Given the description of an element on the screen output the (x, y) to click on. 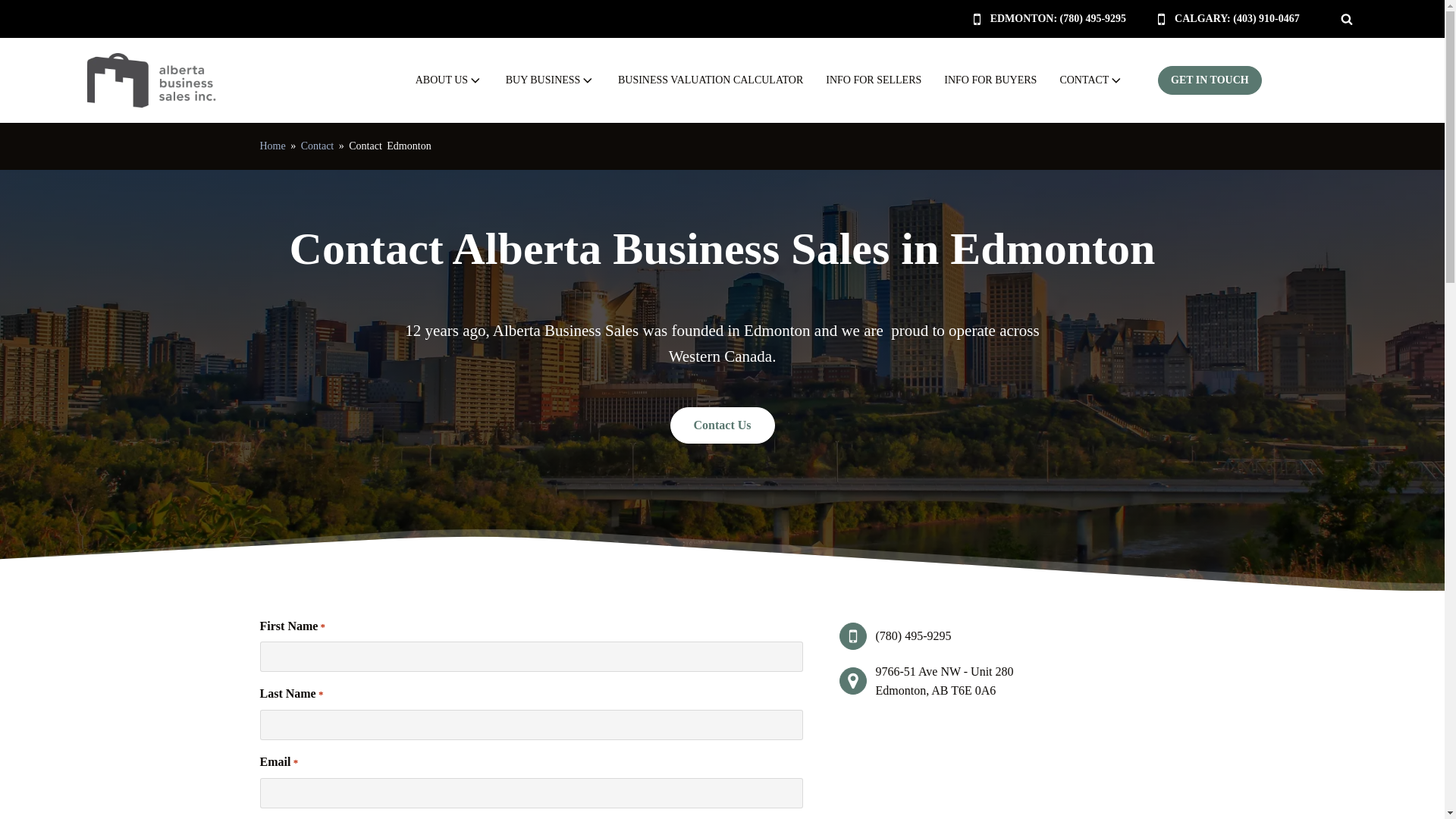
(780) 495-9295 Element type: text (912, 636)
ABOUT US Element type: text (449, 79)
INFO FOR SELLERS Element type: text (873, 79)
Contact Us Element type: text (722, 425)
BUSINESS VALUATION CALCULATOR Element type: text (710, 79)
GET IN TOUCH Element type: text (1209, 79)
INFO FOR BUYERS Element type: text (990, 79)
EDMONTON: (780) 495-9295 Element type: text (1047, 18)
Contact Element type: text (317, 145)
Home Element type: text (272, 145)
9766-51 Ave NW - Unit 280
Edmonton, AB T6E 0A6 Element type: text (944, 681)
CALGARY: (403) 910-0467 Element type: text (1234, 18)
CONTACT Element type: text (1091, 79)
Search Element type: text (25, 9)
BUY BUSINESS Element type: text (550, 79)
